Given the description of an element on the screen output the (x, y) to click on. 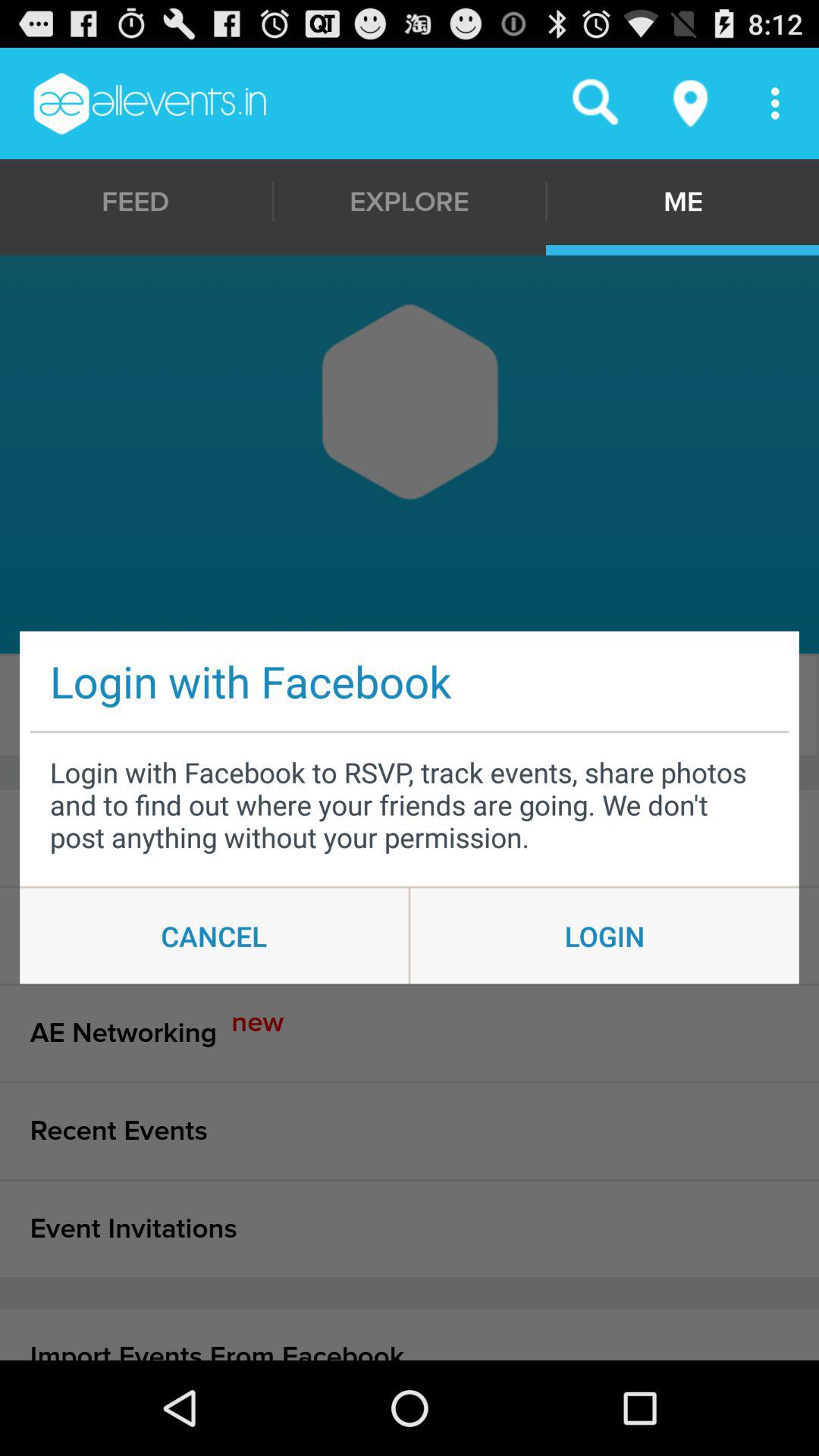
jump to the events i am item (409, 837)
